Given the description of an element on the screen output the (x, y) to click on. 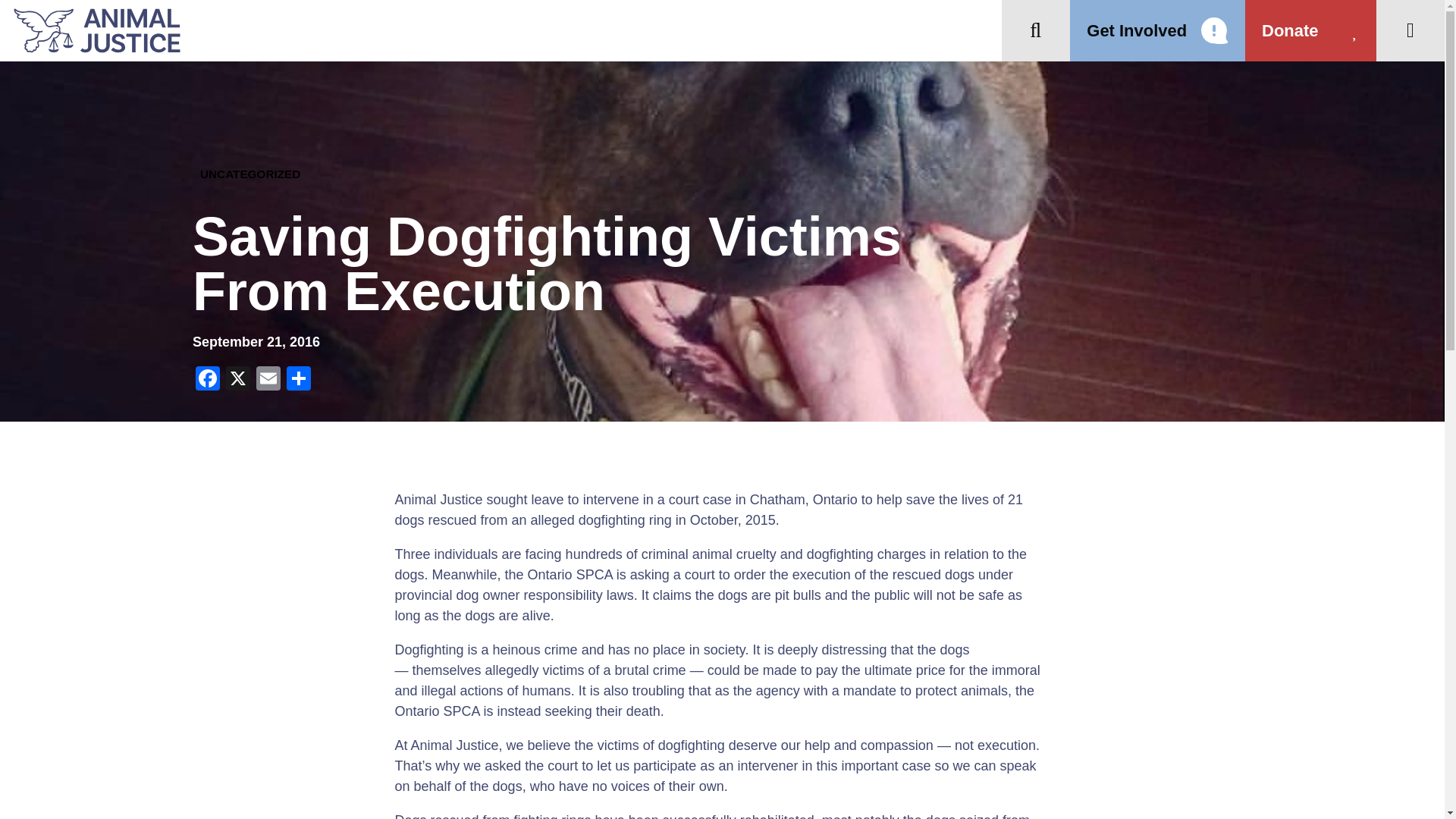
Share (298, 379)
Leading the legal fight for animal protection (90, 30)
Donate (1309, 30)
Get Involved (1157, 30)
Facebook (207, 379)
Email (268, 379)
Get Involved (1157, 30)
Donate (1309, 30)
X (237, 379)
Email (268, 379)
X (237, 379)
Facebook (207, 379)
